Given the description of an element on the screen output the (x, y) to click on. 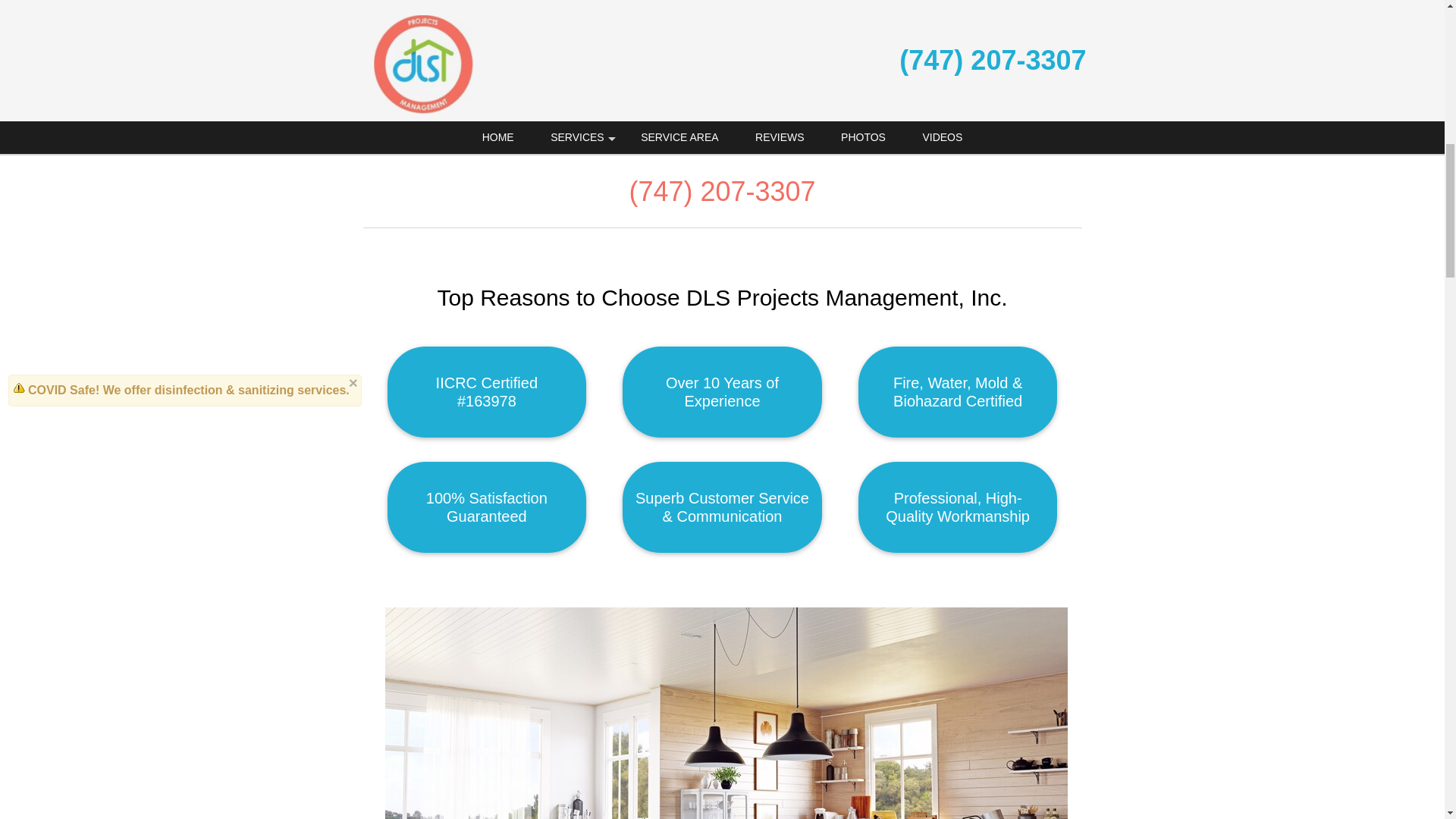
dry out services in Sherman Oaks, California (826, 56)
Sherman Oaks water damage restoration (544, 20)
sewage (508, 38)
burst pipes (981, 20)
flood damage (444, 38)
emergency water removal (609, 56)
